Given the description of an element on the screen output the (x, y) to click on. 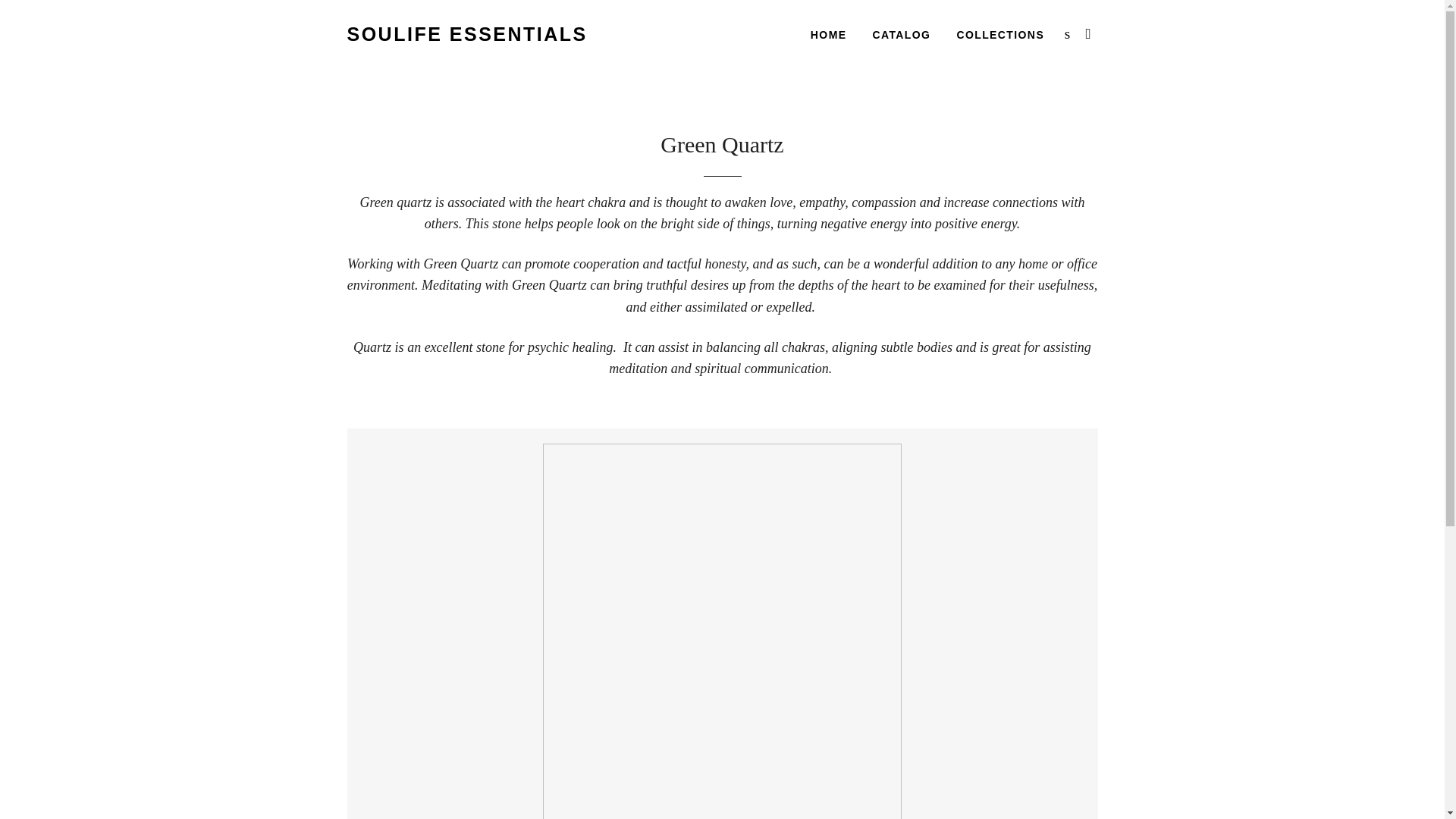
COLLECTIONS (999, 35)
HOME (829, 35)
SOULIFE ESSENTIALS (467, 34)
CATALOG (901, 35)
